Given the description of an element on the screen output the (x, y) to click on. 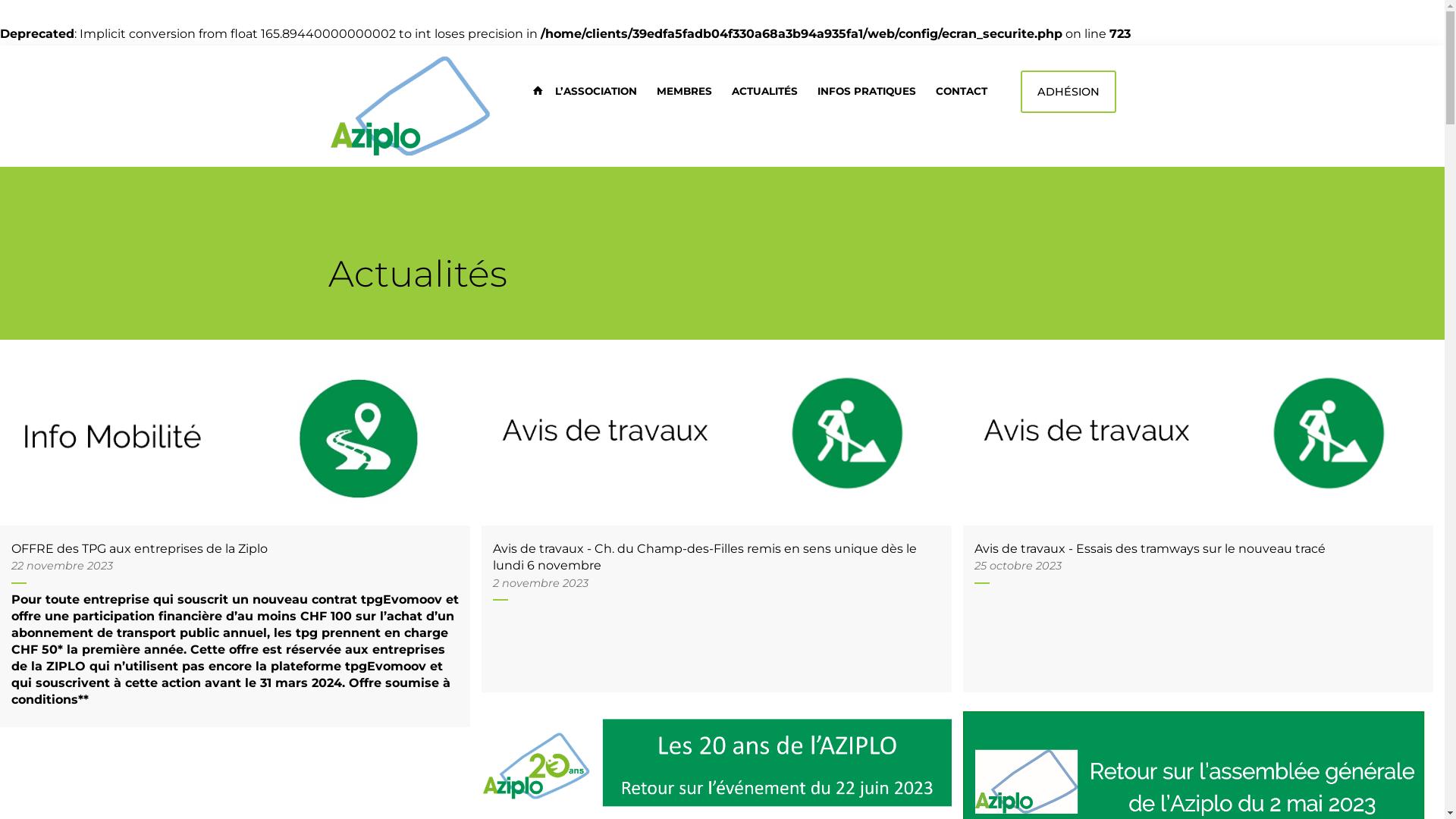
MEMBRES Element type: text (683, 90)
AZIPLO logo Element type: hover (410, 105)
INFOS PRATIQUES Element type: text (866, 90)
accueil Element type: hover (534, 90)
CONTACT Element type: text (961, 90)
